Given the description of an element on the screen output the (x, y) to click on. 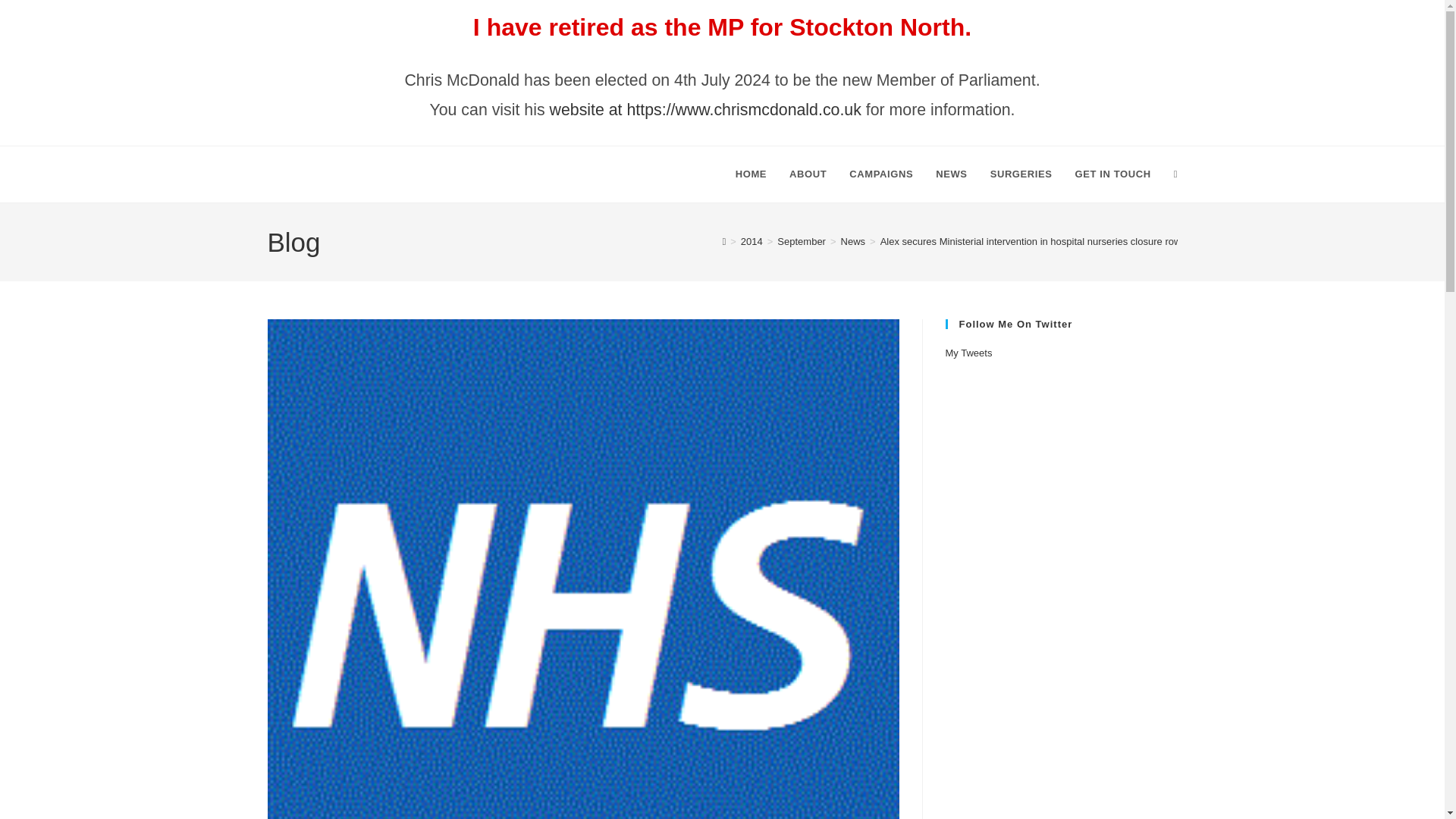
NEWS (951, 174)
ABOUT (807, 174)
News (853, 241)
SURGERIES (1021, 174)
September (801, 241)
GET IN TOUCH (1112, 174)
Alex Cunningham Former MP (414, 173)
CAMPAIGNS (881, 174)
My Tweets (967, 352)
HOME (750, 174)
